Given the description of an element on the screen output the (x, y) to click on. 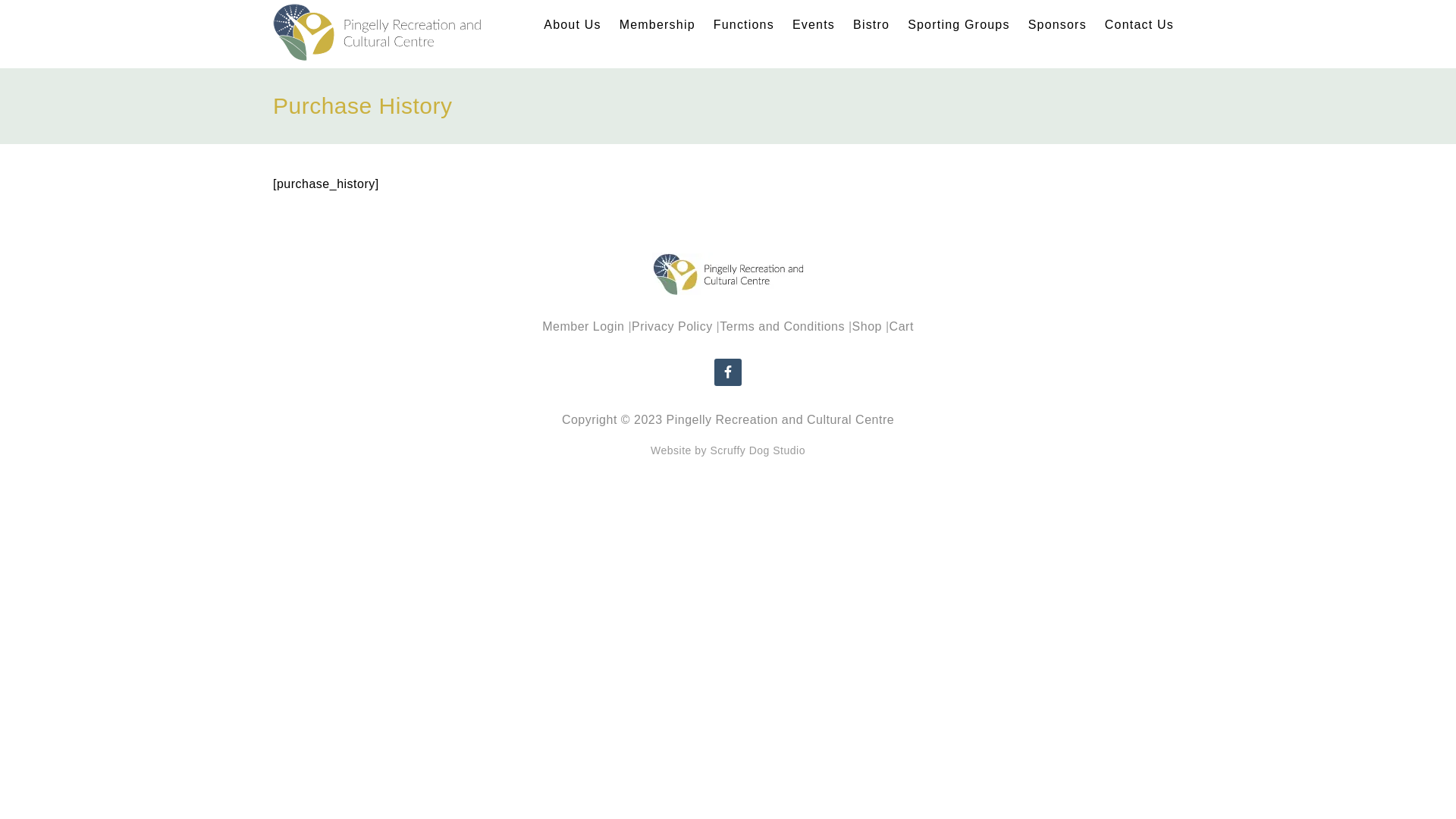
Membership Element type: text (657, 24)
Sponsors Element type: text (1057, 24)
Scruffy Dog Studio Element type: text (756, 450)
Cart Element type: text (901, 326)
Events Element type: text (813, 24)
About Us Element type: text (571, 24)
Sporting Groups Element type: text (958, 24)
Shop Element type: text (866, 326)
Contact Us Element type: text (1139, 24)
Terms and Conditions Element type: text (781, 326)
Functions Element type: text (743, 24)
Bistro Element type: text (871, 24)
Privacy Policy Element type: text (671, 326)
Member Login Element type: text (583, 326)
